Given the description of an element on the screen output the (x, y) to click on. 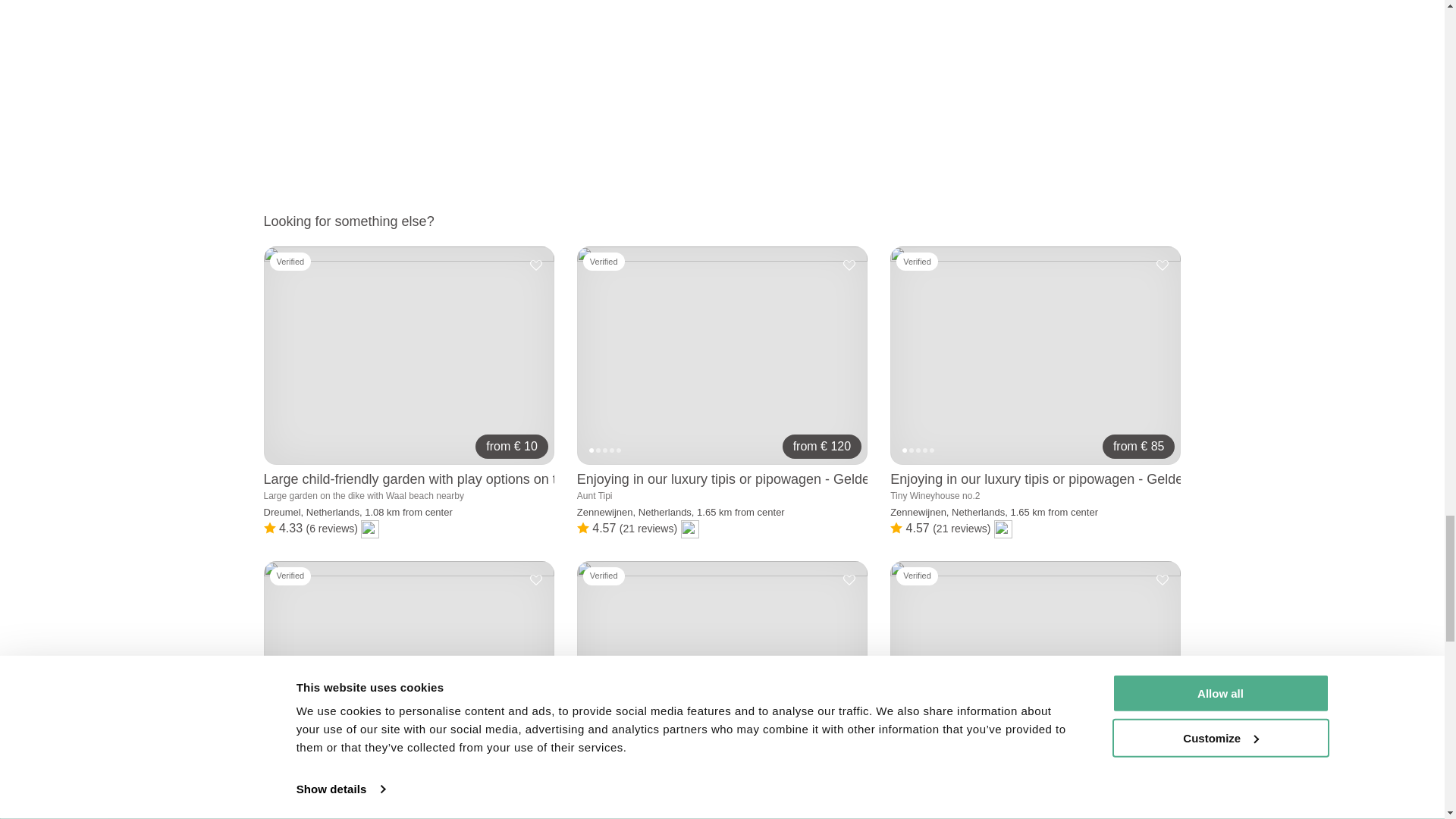
Save (1162, 265)
Save (849, 265)
Save (535, 265)
